Given the description of an element on the screen output the (x, y) to click on. 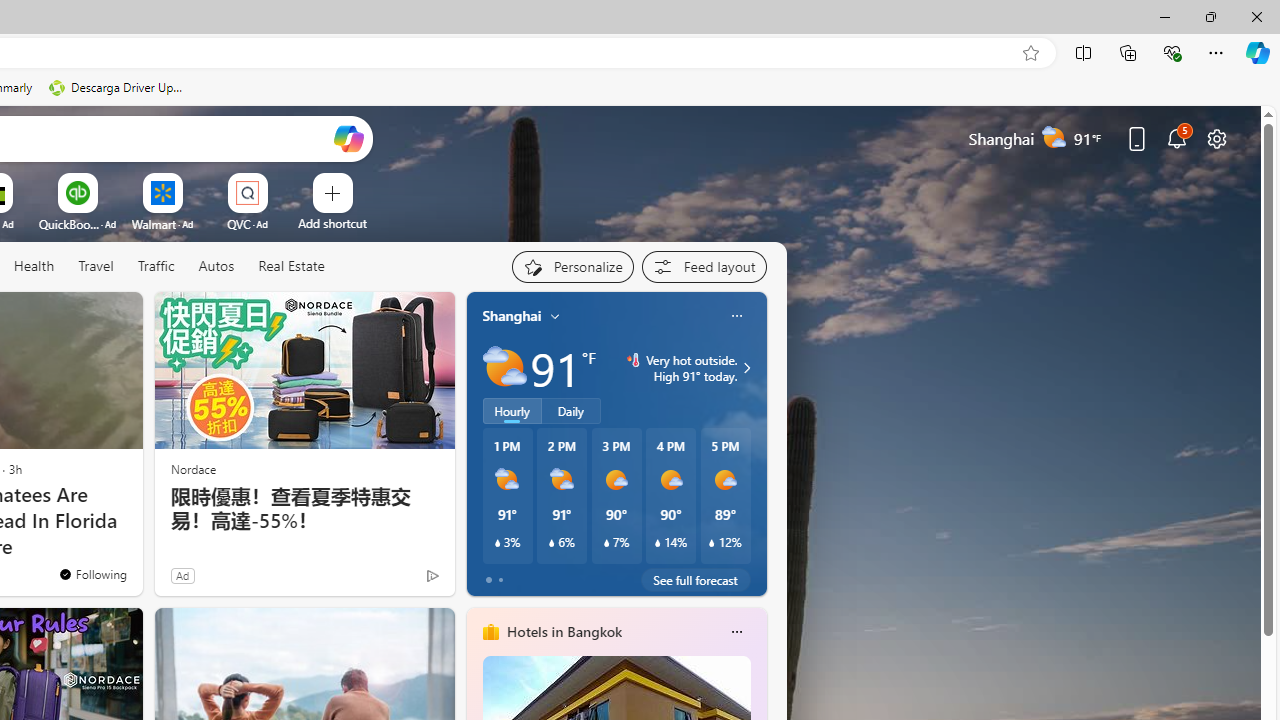
Descarga Driver Updater (118, 88)
Autos (216, 267)
Health (33, 267)
Class: icon-img (736, 632)
